Given the description of an element on the screen output the (x, y) to click on. 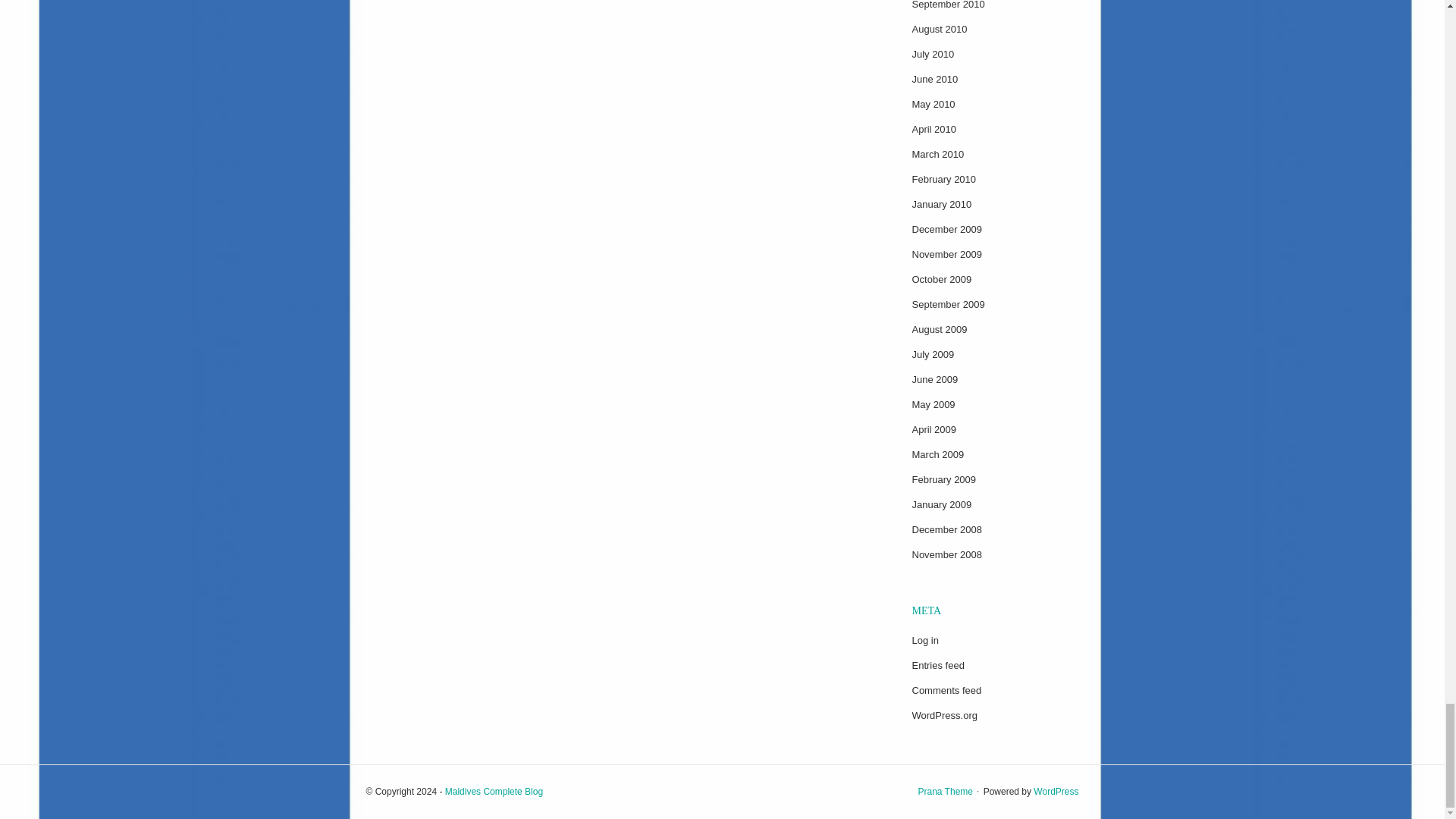
Prana Theme (944, 791)
WordPress (1055, 791)
